Given the description of an element on the screen output the (x, y) to click on. 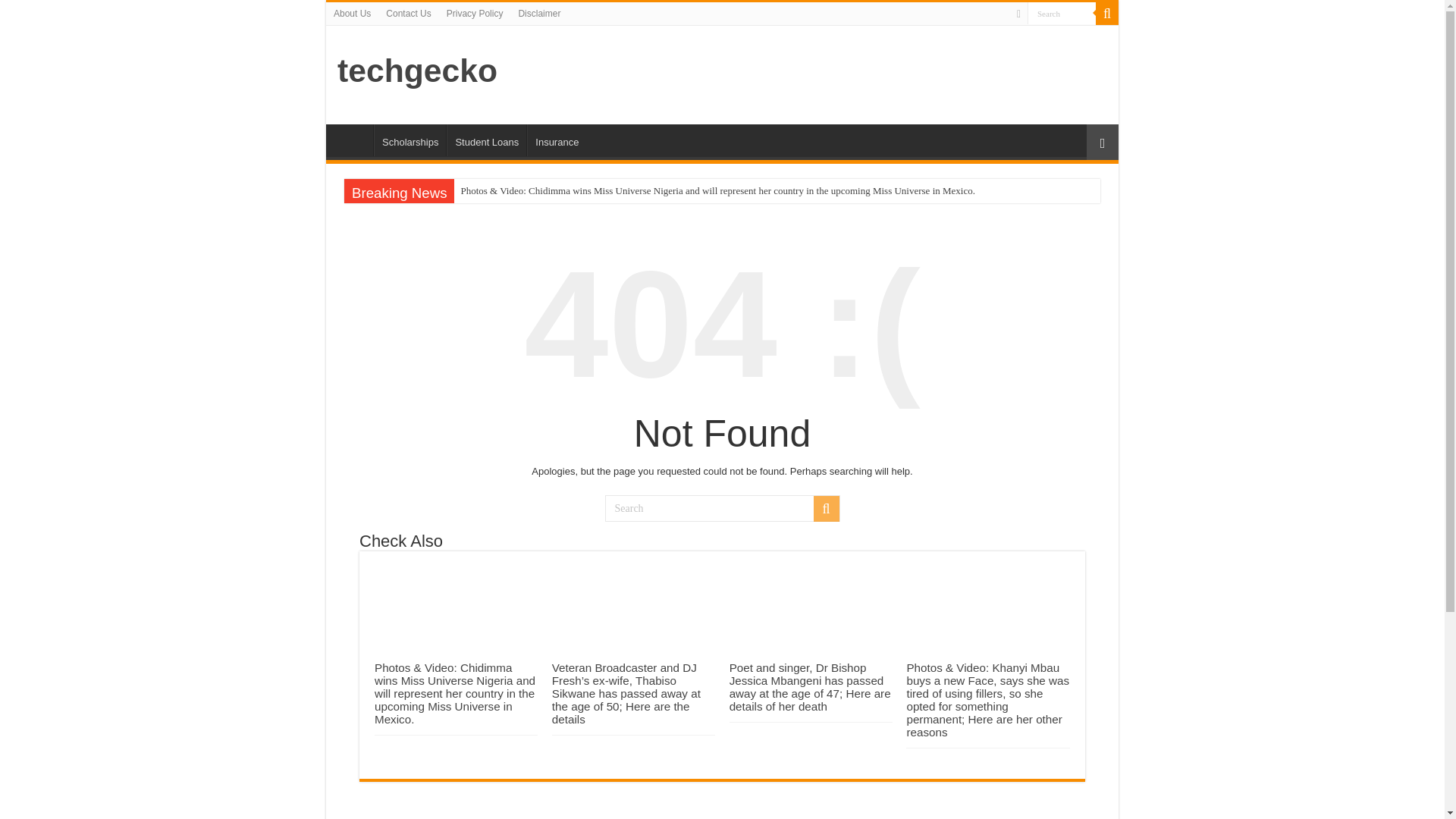
Search (1061, 13)
techgecko (417, 70)
Search (1061, 13)
Search (1061, 13)
Privacy Policy (475, 13)
Random Article (1102, 141)
Contact Us (408, 13)
Search (722, 508)
Home (352, 140)
